Given the description of an element on the screen output the (x, y) to click on. 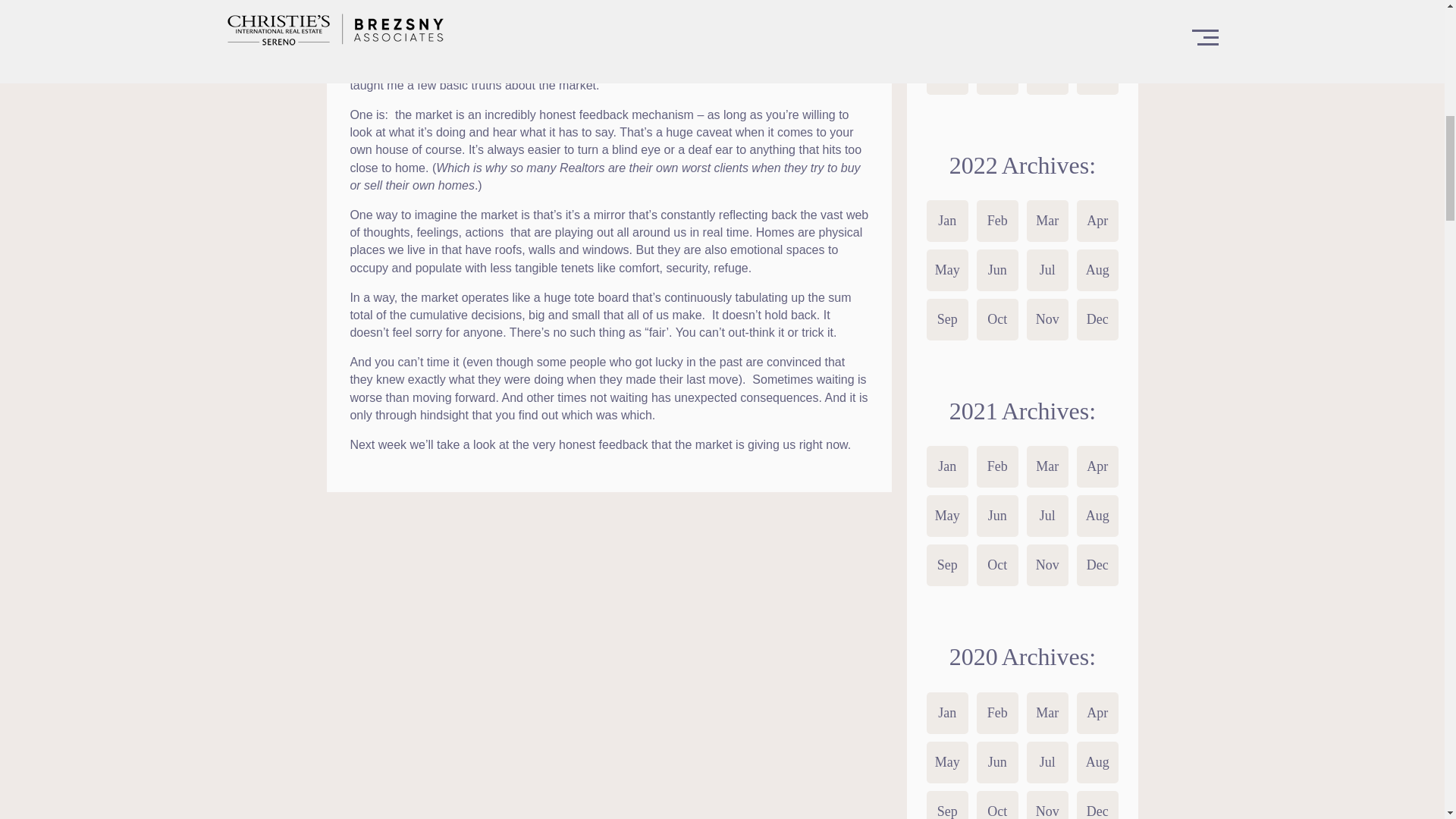
June 2001 (996, 24)
July 2001 (1047, 24)
May 2001 (947, 24)
Jun (996, 24)
May (947, 24)
Jul (1047, 24)
